Given the description of an element on the screen output the (x, y) to click on. 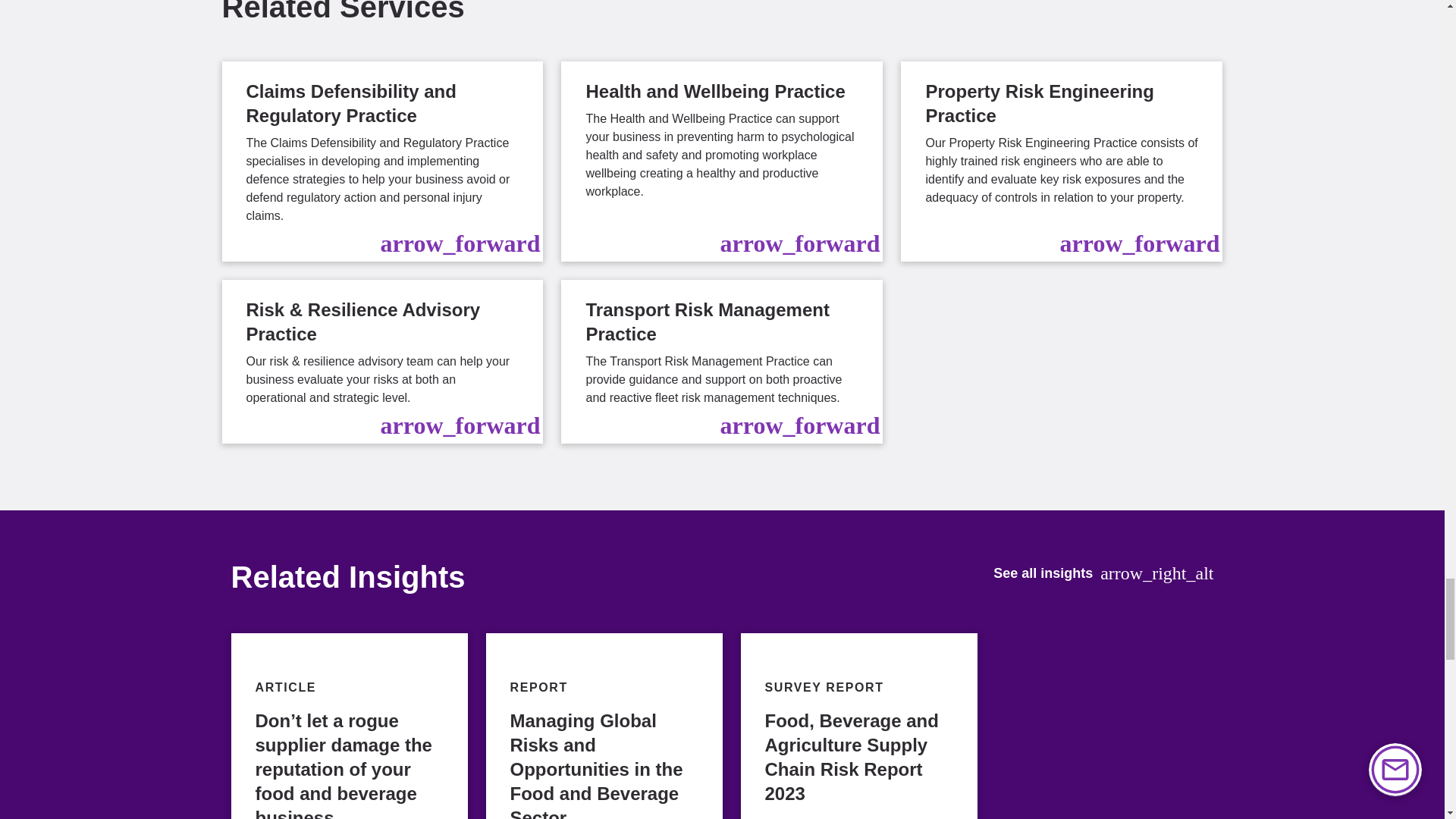
Health and Wellbeing Practice (721, 161)
Claims Defensibility and Regulatory Practice (382, 161)
Transport Risk Management Practice (721, 361)
Property Risk Engineering Practice (1062, 161)
